Given the description of an element on the screen output the (x, y) to click on. 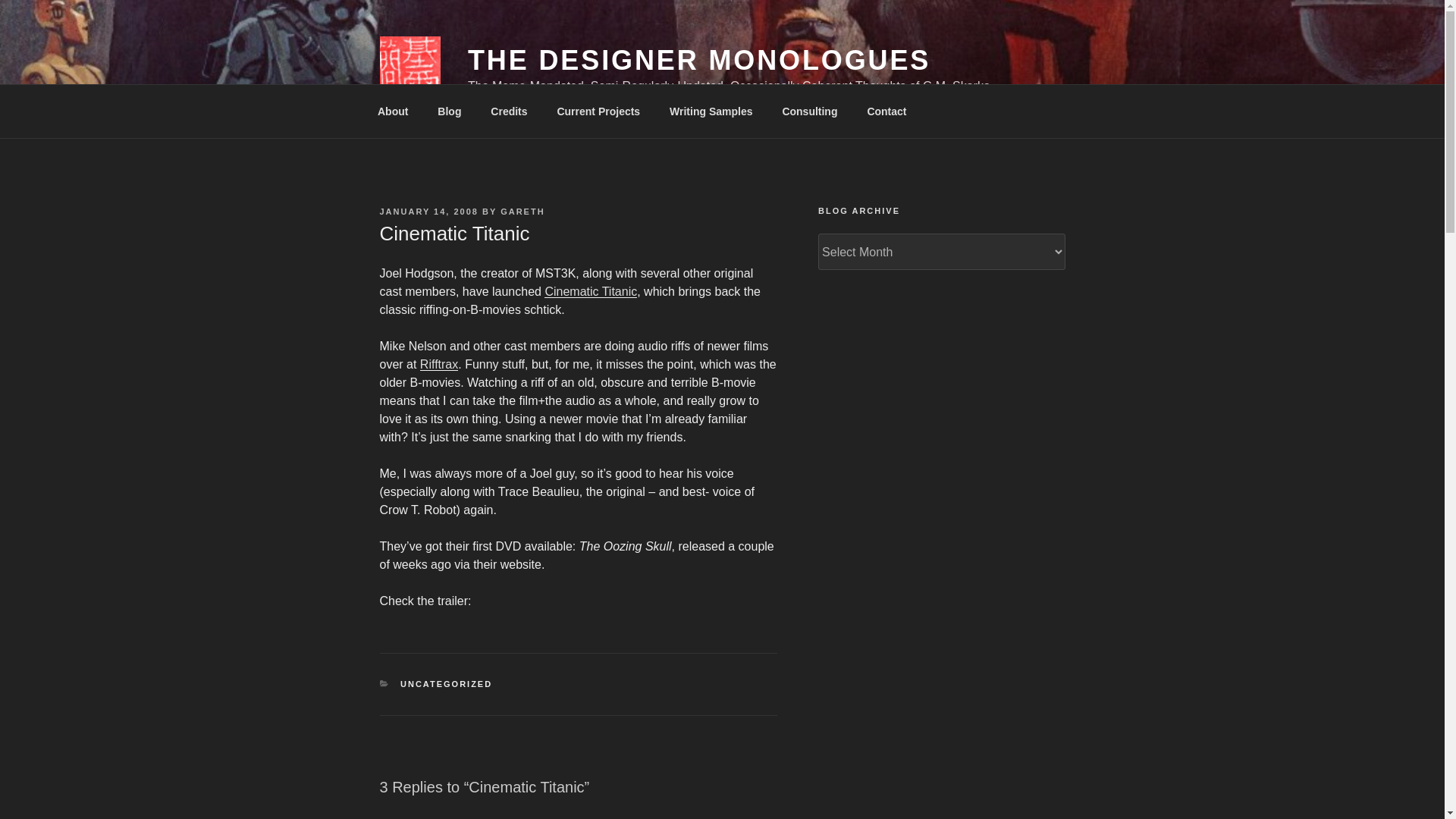
Cinematic Titanic (590, 291)
Consulting (809, 110)
Writing Samples (710, 110)
Credits (508, 110)
JANUARY 14, 2008 (427, 211)
Contact (886, 110)
Blog (449, 110)
UNCATEGORIZED (446, 683)
Rifftrax (439, 364)
GARETH (522, 211)
